Given the description of an element on the screen output the (x, y) to click on. 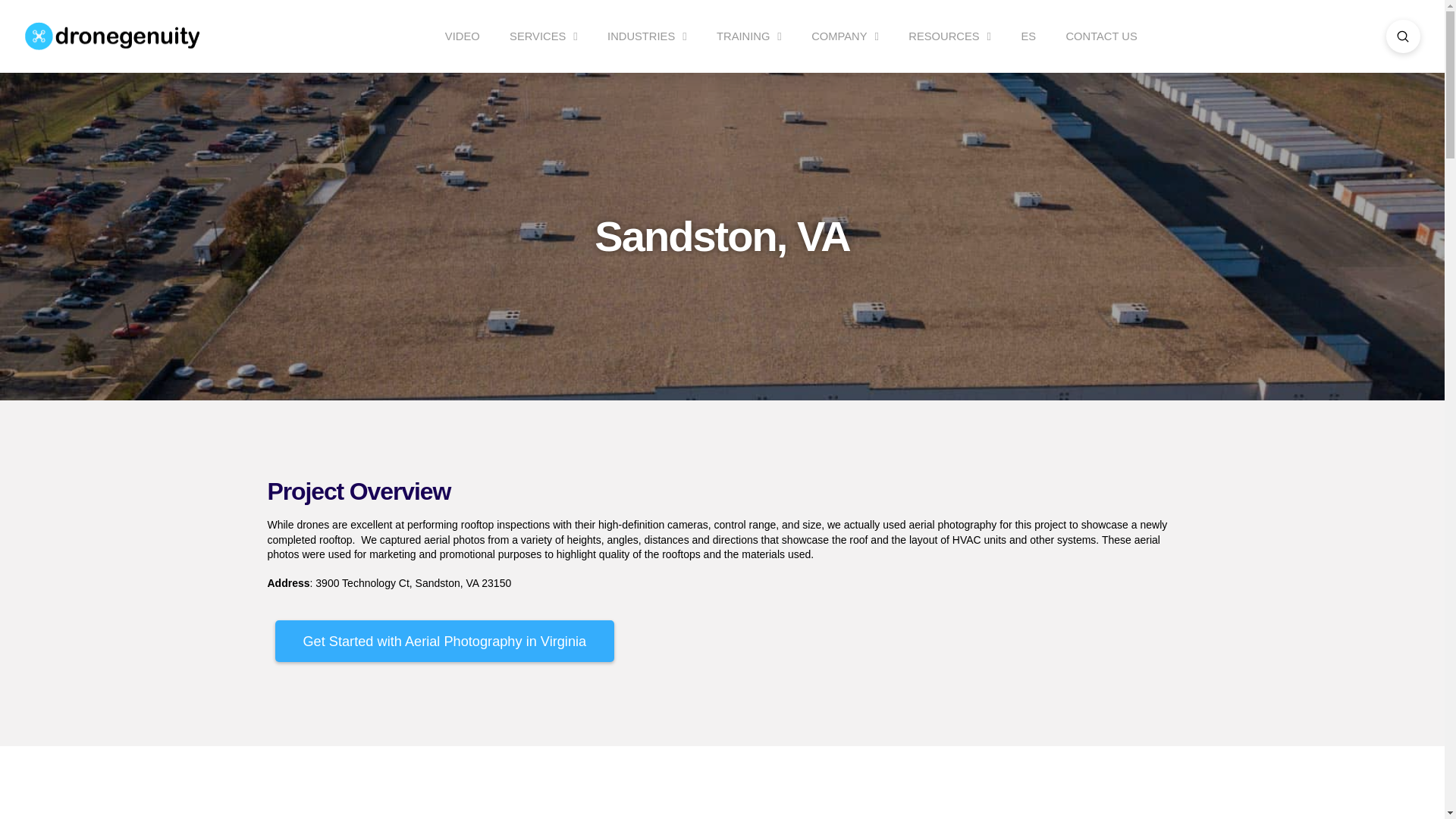
COMPANY (845, 36)
TRAINING (748, 36)
RESOURCES (949, 36)
INDUSTRIES (646, 36)
SERVICES (543, 36)
